Given the description of an element on the screen output the (x, y) to click on. 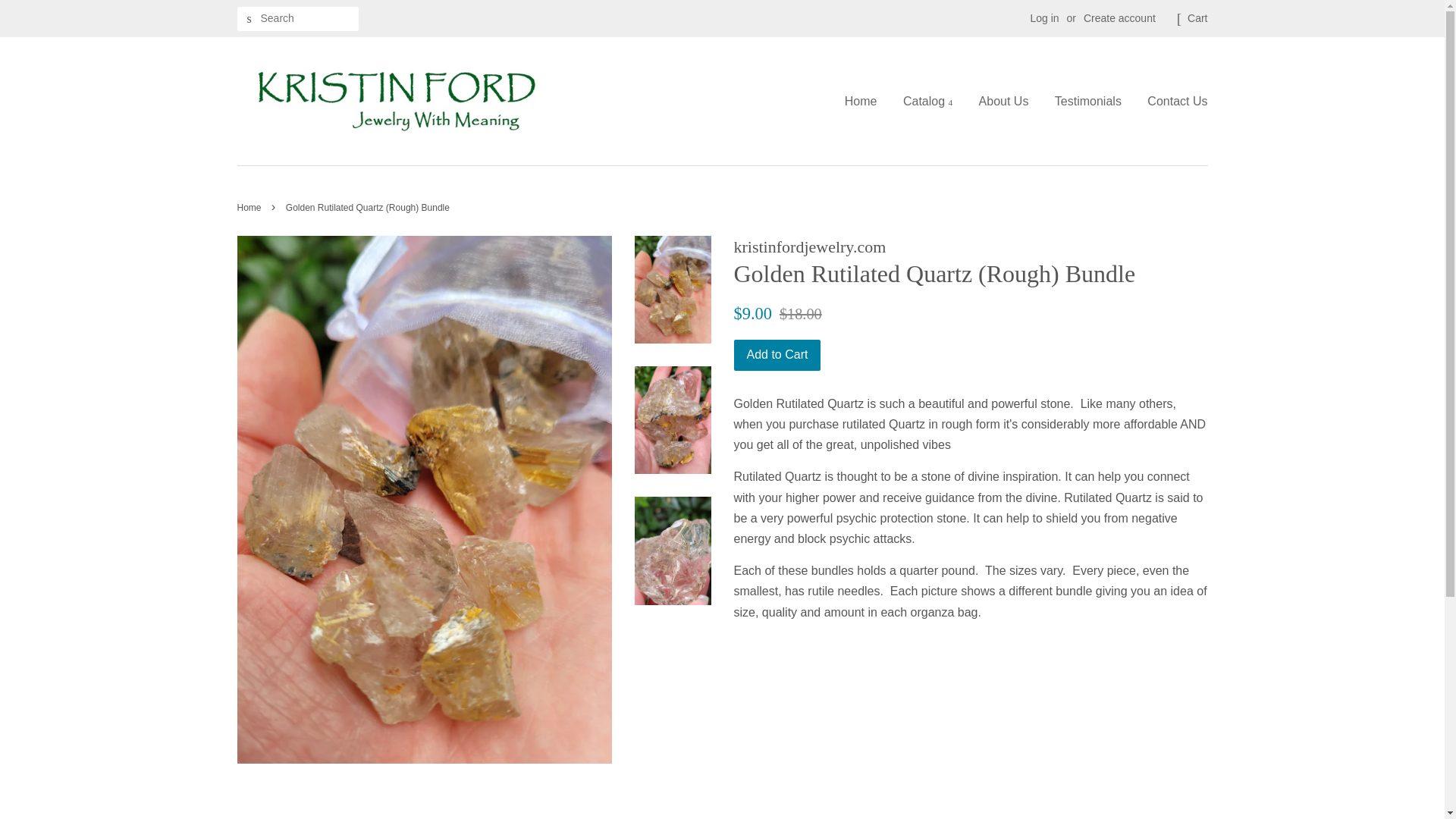
Back to the frontpage (249, 207)
Testimonials (1087, 100)
Home (249, 207)
Search (247, 18)
Catalog (927, 100)
Create account (1119, 18)
About Us (1004, 100)
Log in (1043, 18)
Home (866, 100)
Add to Cart (777, 355)
Cart (1197, 18)
Contact Us (1171, 100)
